Given the description of an element on the screen output the (x, y) to click on. 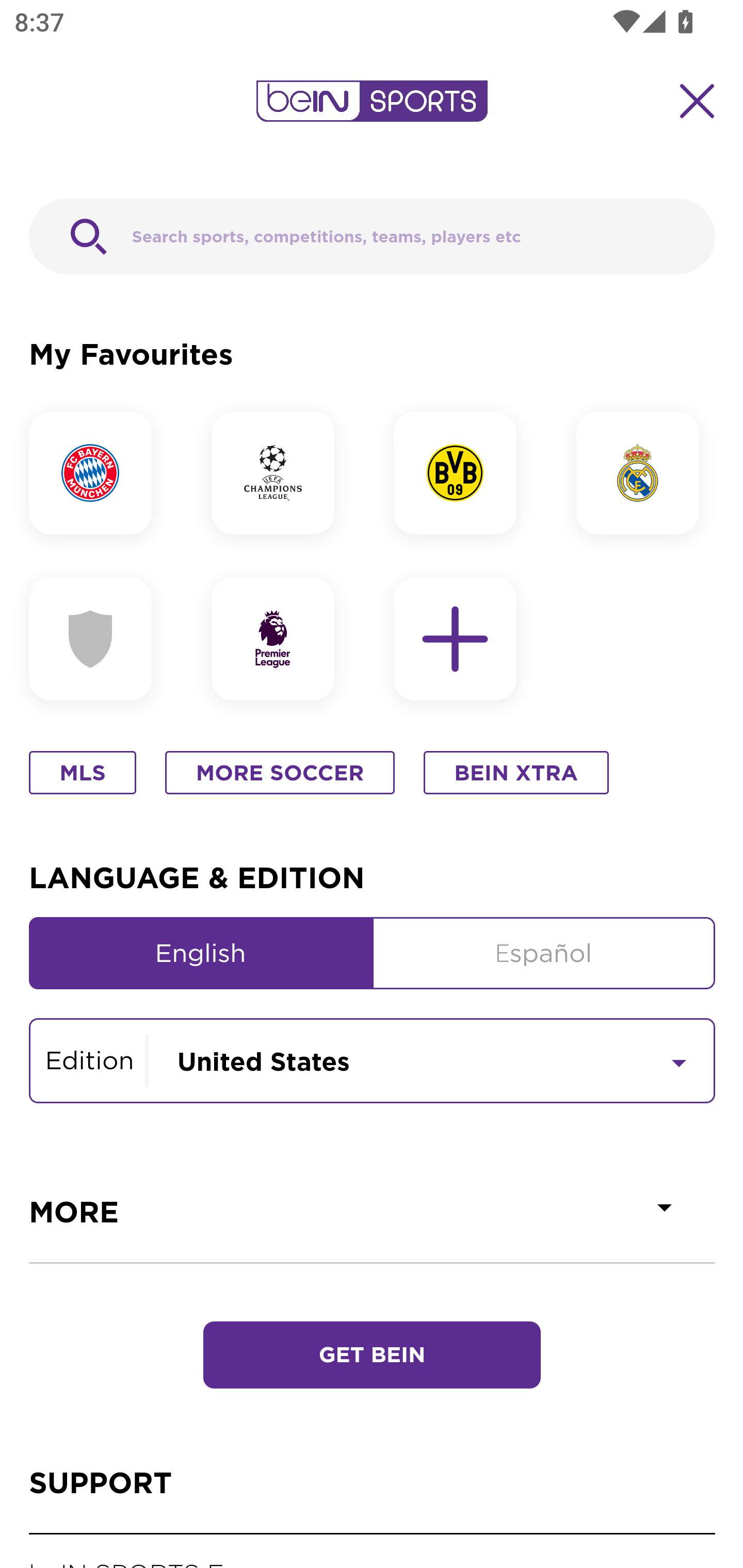
en-us?platform=mobile_android bein logo (371, 101)
Close Menu Icon (697, 101)
fc-bayern-mnchen-women?platform=mobile_android (98, 472)
uefa-champions-league?platform=mobile_android (280, 472)
bv-borussia-09-dortmund?platform=mobile_android (463, 472)
real-madrid-cf?platform=mobile_android (645, 472)
ncaa-basketball?platform=mobile_android (98, 639)
news?platform=mobile_android (280, 639)
MLS (81, 773)
MORE SOCCER (279, 773)
BEIN XTRA (516, 773)
English (200, 953)
Еspañol (544, 953)
United States (430, 1058)
MORE (372, 1211)
GET BEIN (371, 1355)
